Given the description of an element on the screen output the (x, y) to click on. 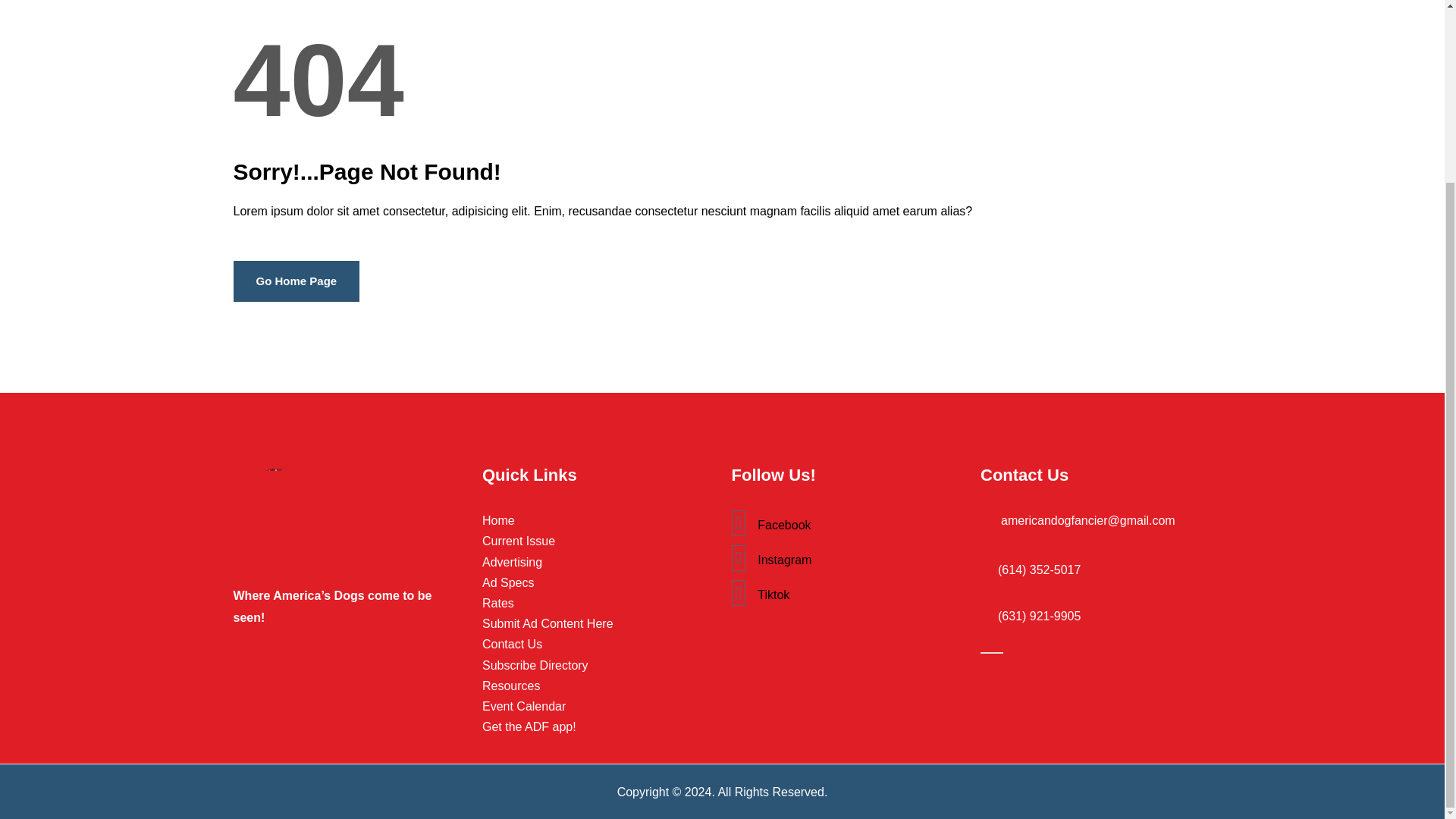
Subscribe Directory (597, 665)
Resources (597, 685)
Home (597, 520)
Ad Specs (597, 582)
Tiktok (846, 592)
Go Home Page (295, 281)
Submit Ad Content Here (597, 623)
Get the ADF app! (597, 726)
Instagram (846, 557)
Rates (597, 602)
